Given the description of an element on the screen output the (x, y) to click on. 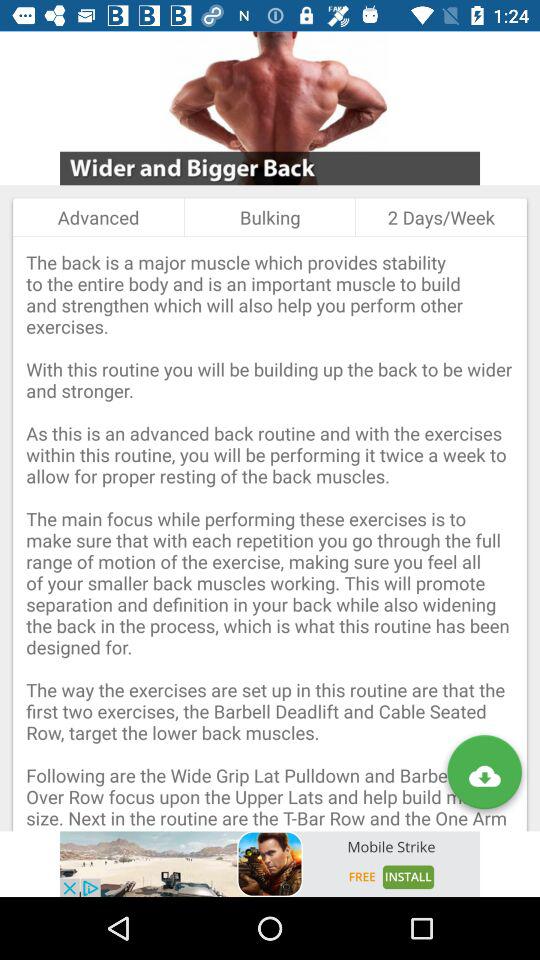
launch bulking (269, 217)
